Given the description of an element on the screen output the (x, y) to click on. 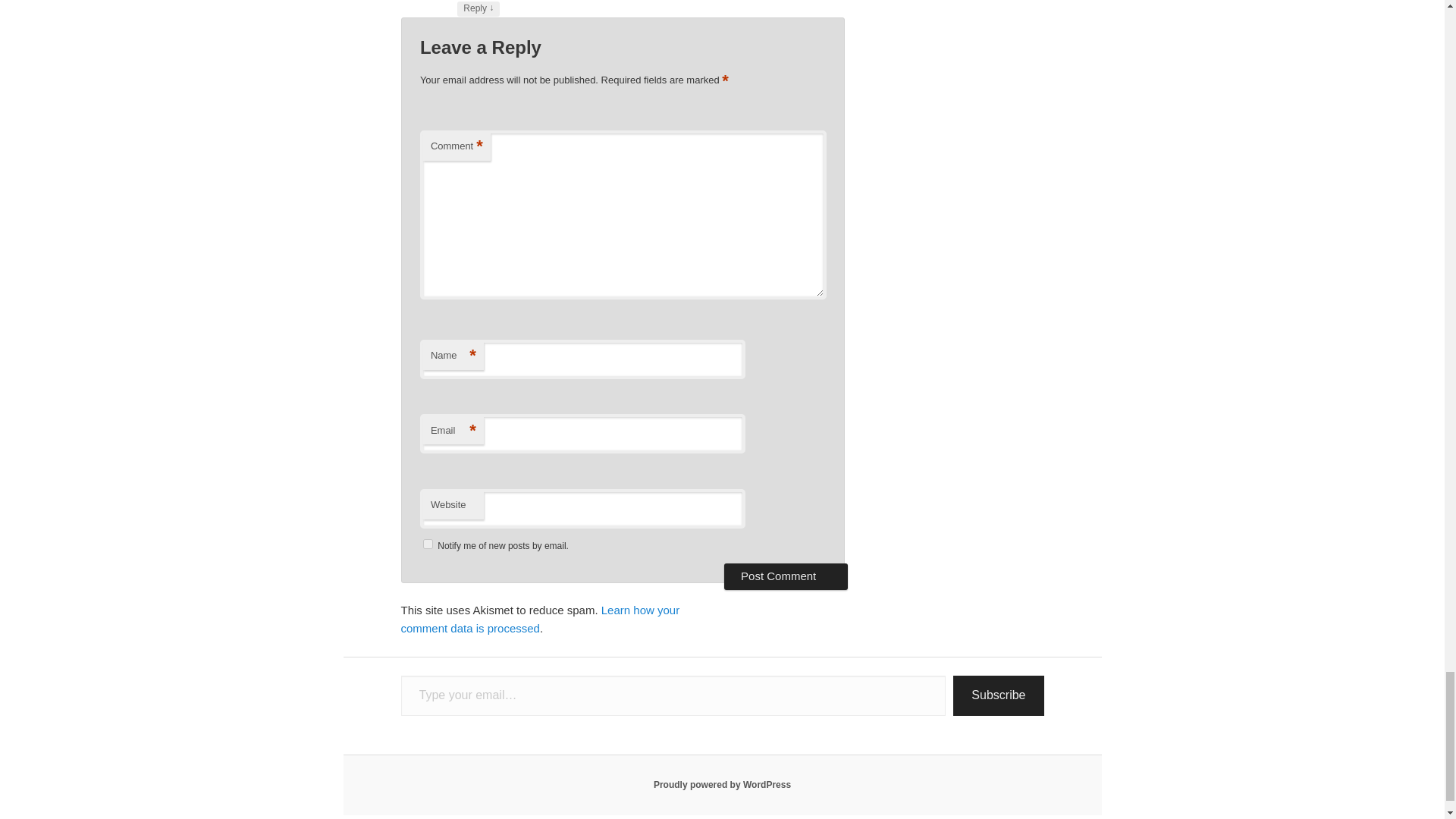
subscribe (427, 543)
Post Comment (785, 575)
